Given the description of an element on the screen output the (x, y) to click on. 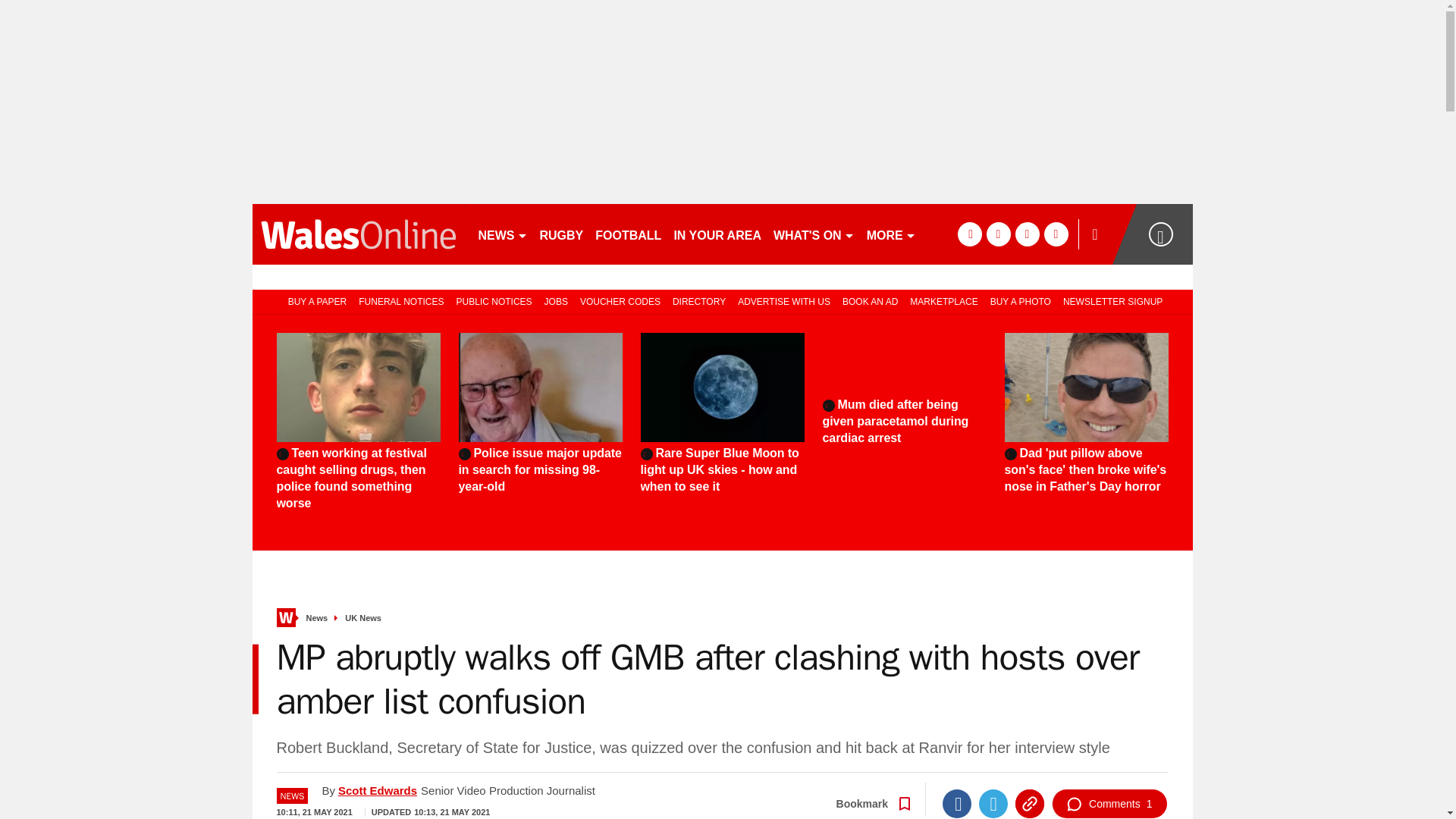
Comments (1108, 803)
walesonline (357, 233)
facebook (968, 233)
Twitter (992, 803)
Facebook (956, 803)
pinterest (1026, 233)
WHAT'S ON (813, 233)
instagram (1055, 233)
NEWS (501, 233)
RUGBY (561, 233)
